Given the description of an element on the screen output the (x, y) to click on. 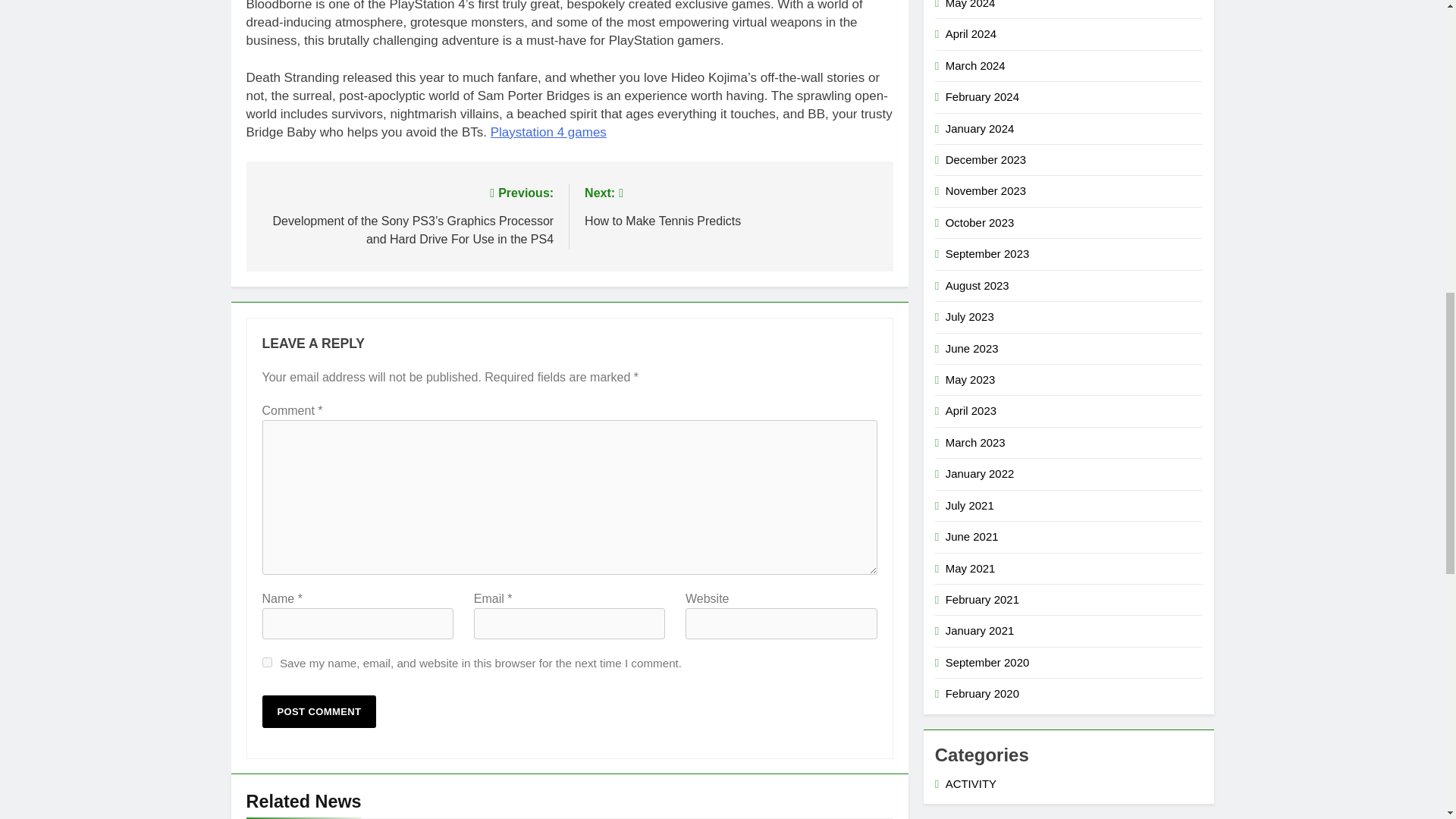
yes (267, 662)
Post Comment (319, 711)
